Given the description of an element on the screen output the (x, y) to click on. 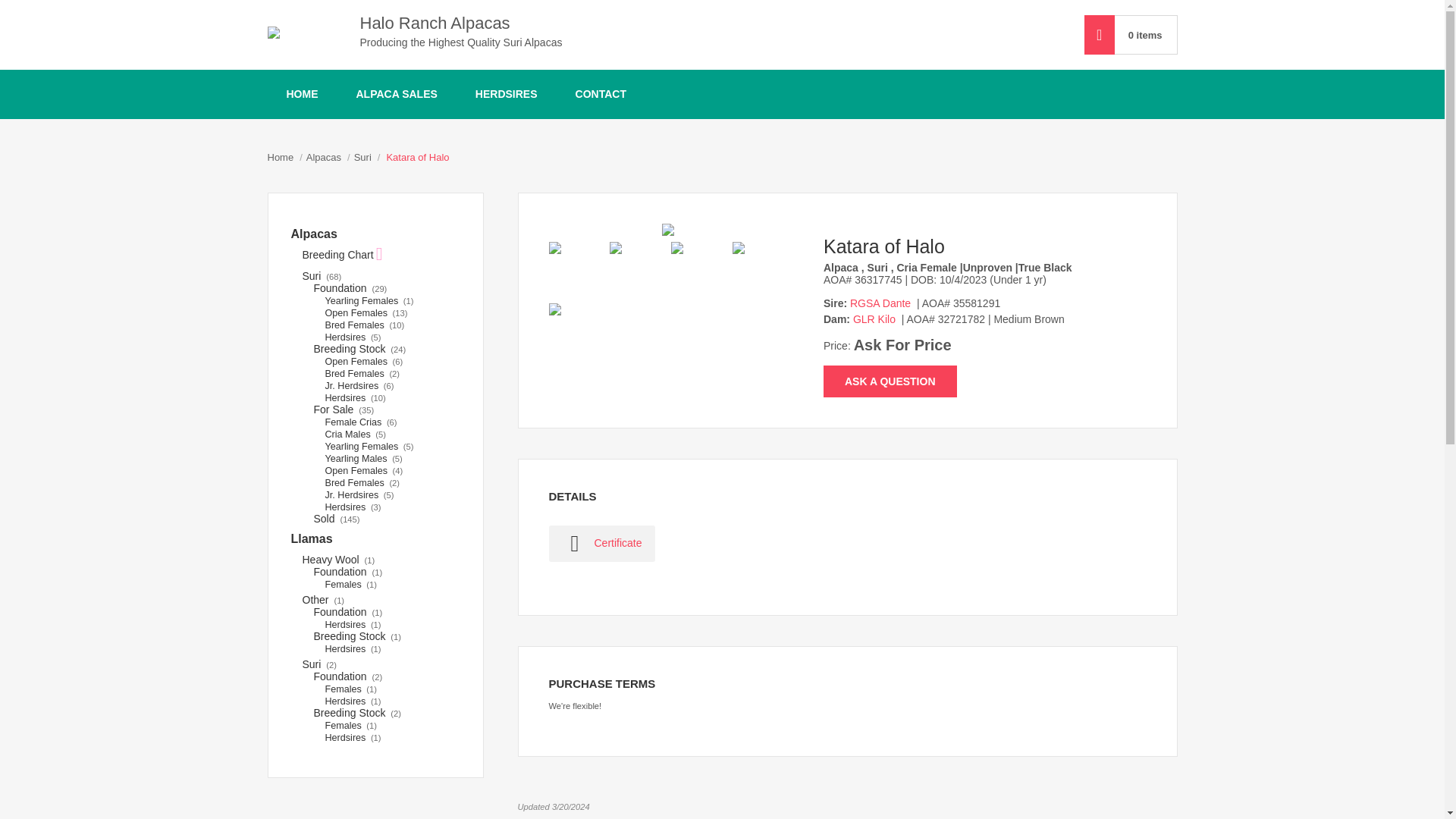
Katara, March 2024 (667, 229)
Alpacas (322, 157)
Home (280, 157)
0 items (1145, 34)
Katara, January 2024 (637, 269)
Breeding Chart (341, 254)
Home (280, 157)
Alpacas (322, 157)
Katara, March 2024 (576, 330)
HOME (301, 93)
